Given the description of an element on the screen output the (x, y) to click on. 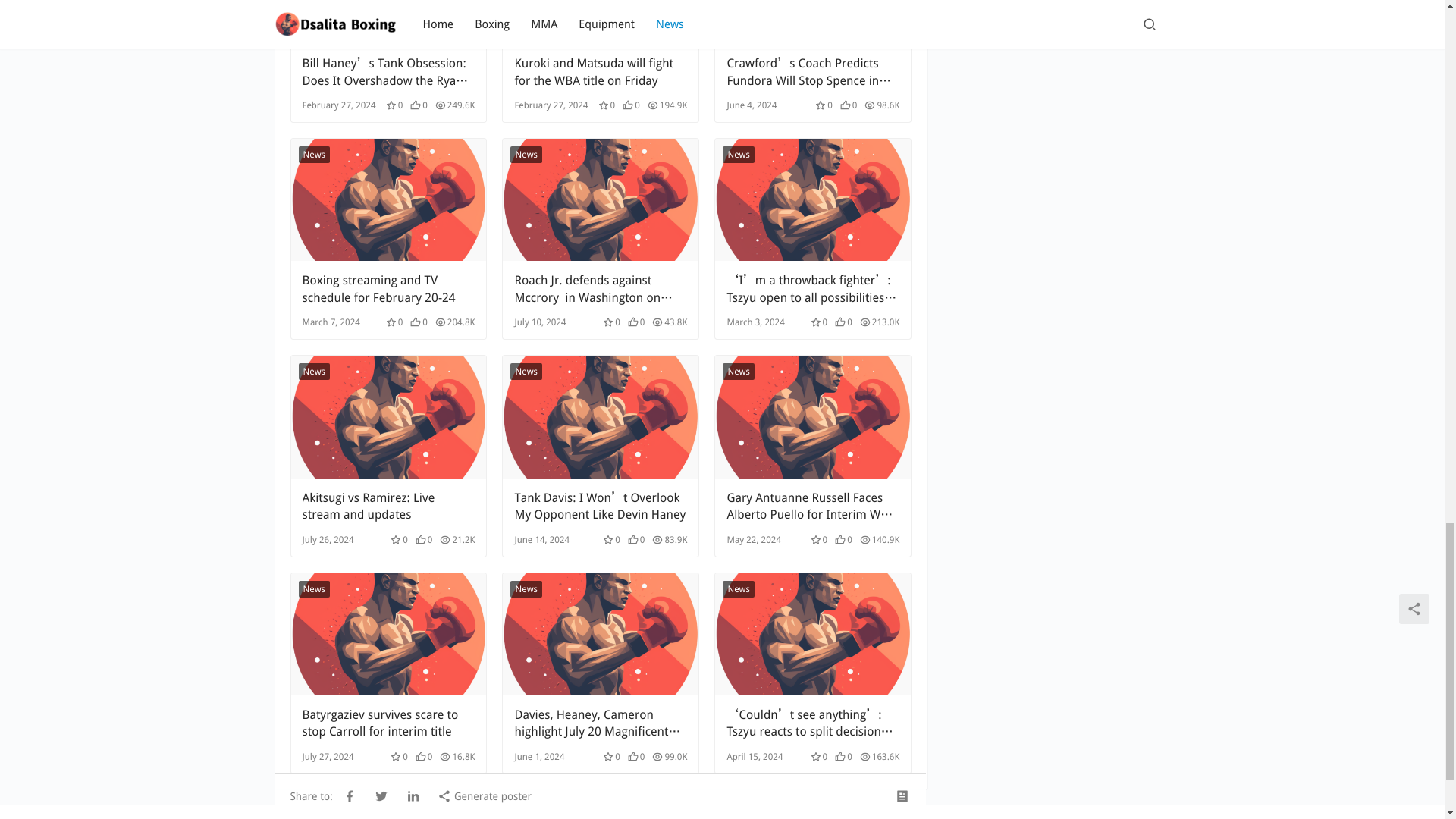
News (526, 154)
Boxing streaming and TV schedule for February 20-24 (388, 199)
Boxing streaming and TV schedule for February 20-24 (387, 288)
Akitsugi vs Ramirez: Live stream and updates (388, 416)
Roach Jr. defends against Mccrory  in Washington on Friday (600, 288)
Akitsugi vs Ramirez: Live stream and updates (387, 506)
News (314, 154)
Kuroki and Matsuda will fight for the WBA title on Friday  (600, 71)
Boxing streaming and TV schedule for February 20-24 (387, 288)
